Given the description of an element on the screen output the (x, y) to click on. 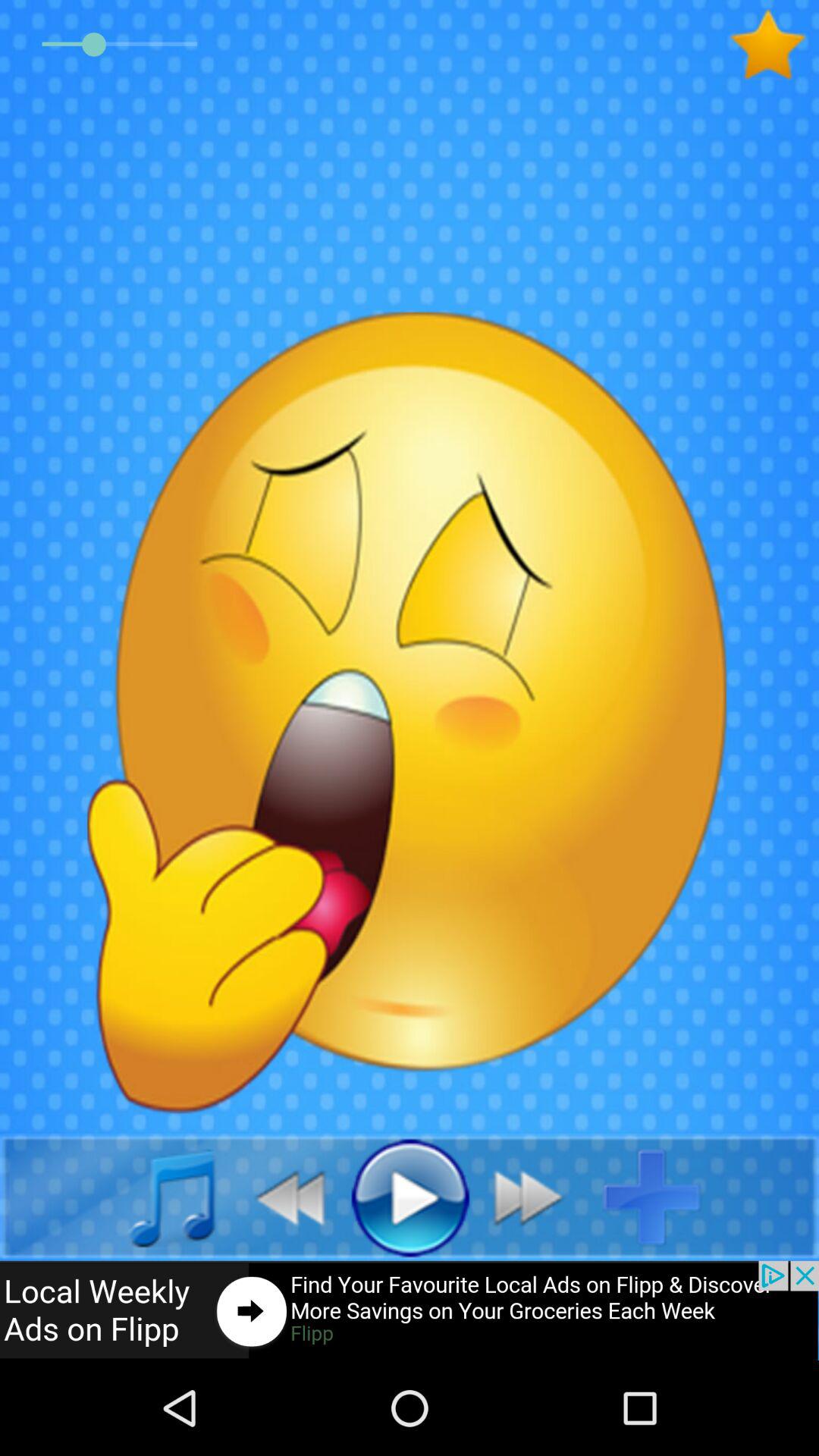
fovread (774, 44)
